Given the description of an element on the screen output the (x, y) to click on. 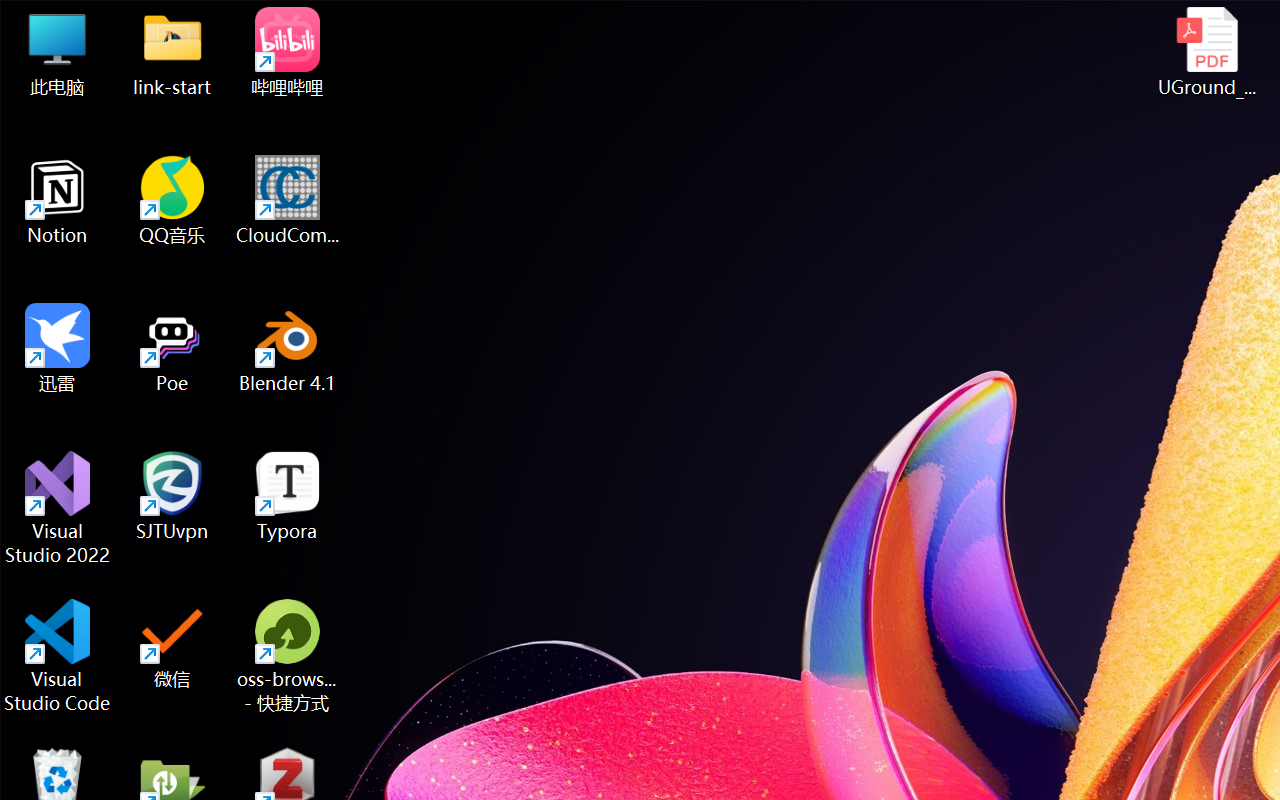
February 8, 2024 (975, 672)
Sign in - Google Accounts (894, 22)
Sign in - Google Accounts (968, 22)
Overview (54, 183)
March 4, 2024 (968, 574)
